Given the description of an element on the screen output the (x, y) to click on. 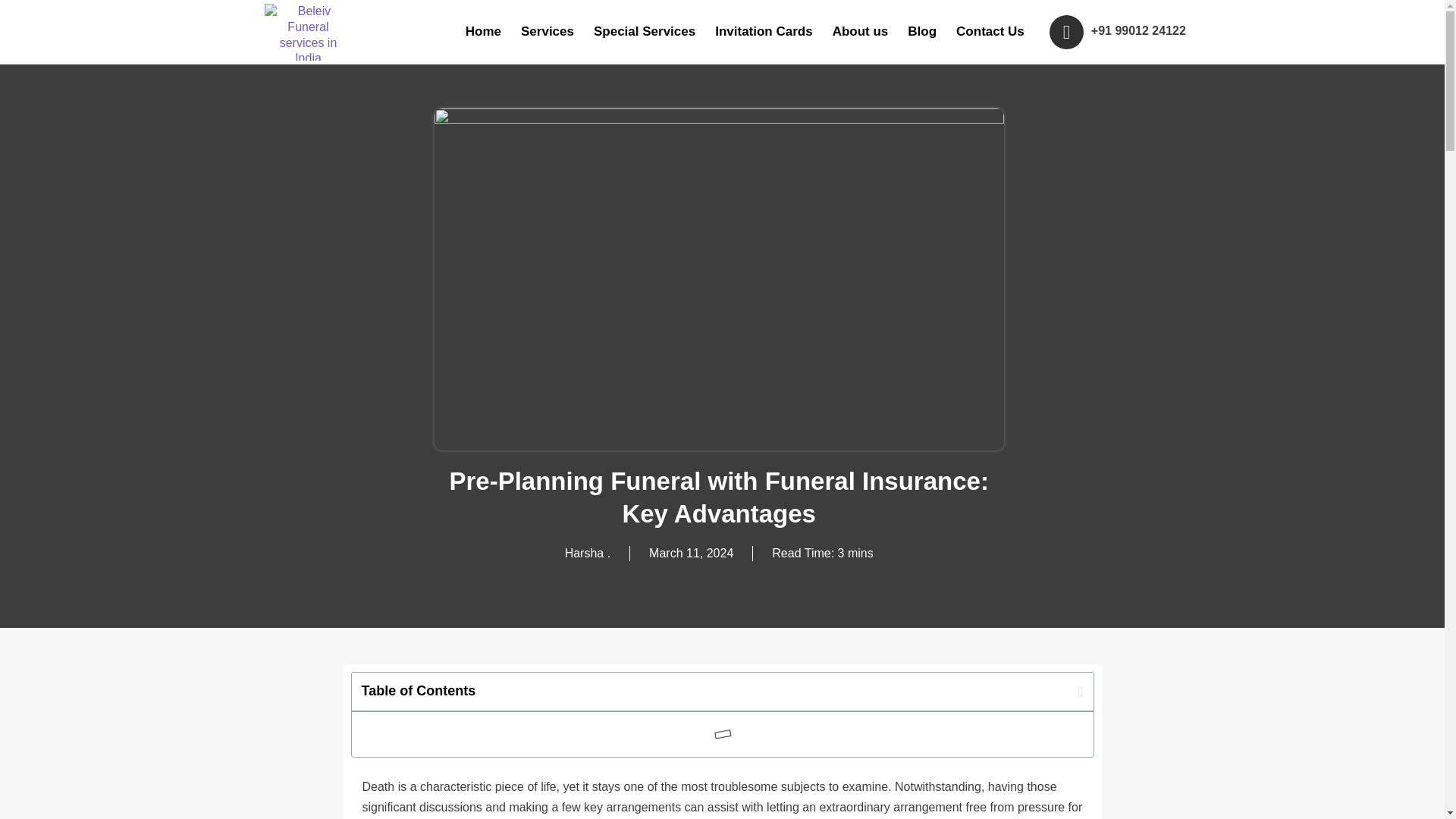
Home (483, 31)
Services (547, 31)
